Given the description of an element on the screen output the (x, y) to click on. 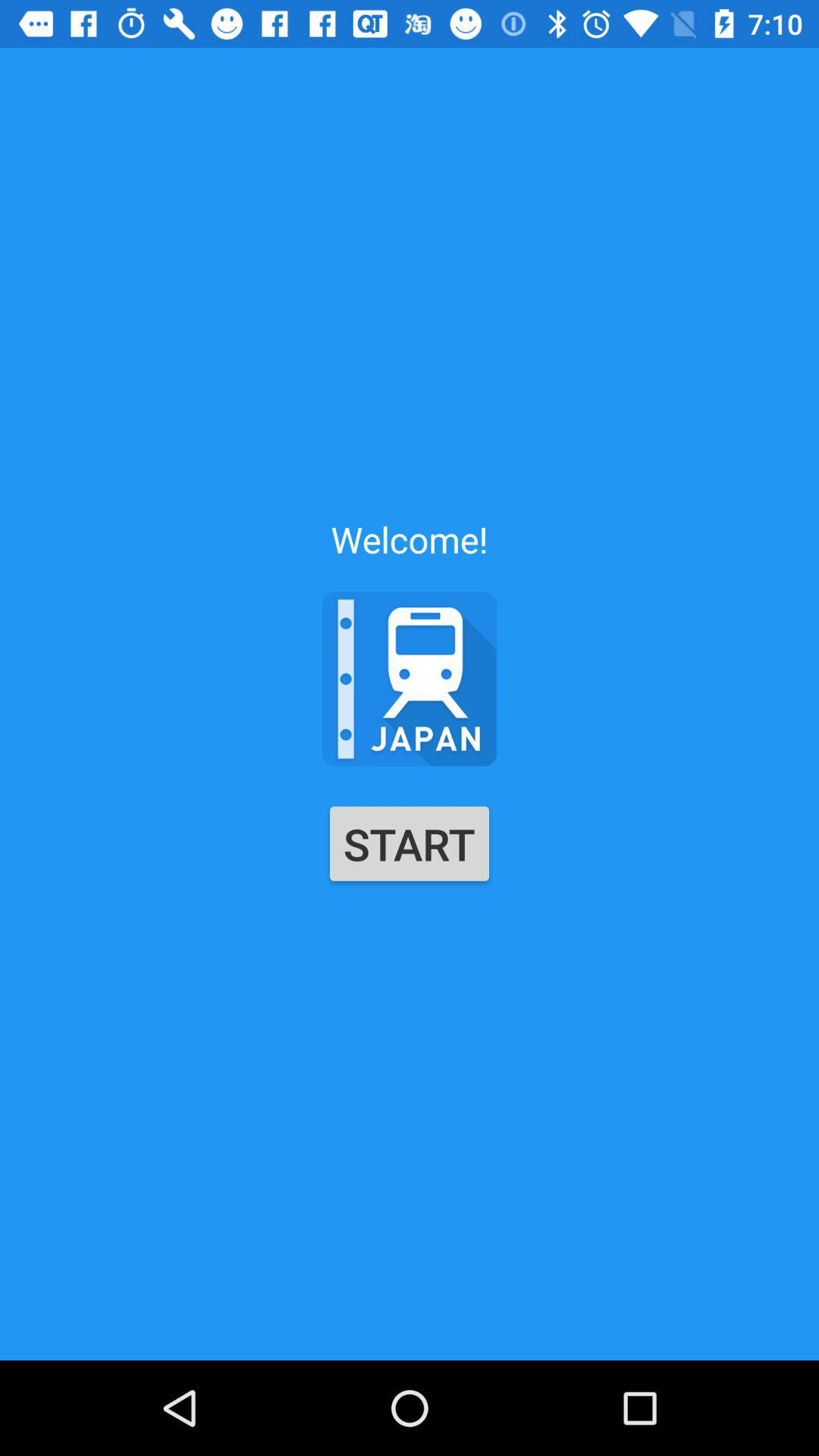
jump until the start icon (409, 843)
